Given the description of an element on the screen output the (x, y) to click on. 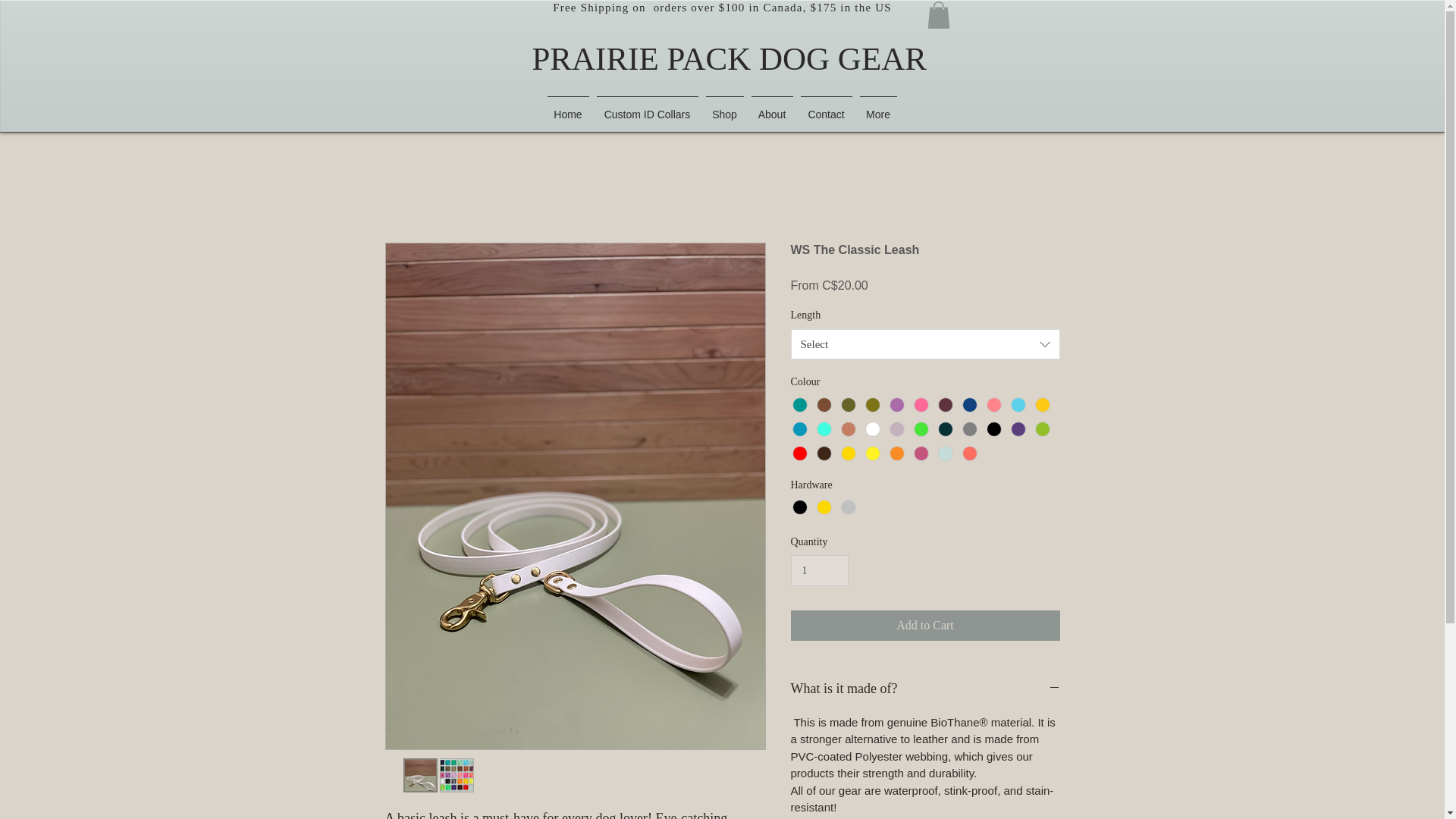
Select (924, 344)
Custom ID Collars (646, 107)
PRAIRIE PACK DOG GEAR (728, 58)
Shop (724, 107)
Home (567, 107)
About (772, 107)
Add to Cart (924, 625)
What is it made of? (924, 689)
Contact (826, 107)
